Given the description of an element on the screen output the (x, y) to click on. 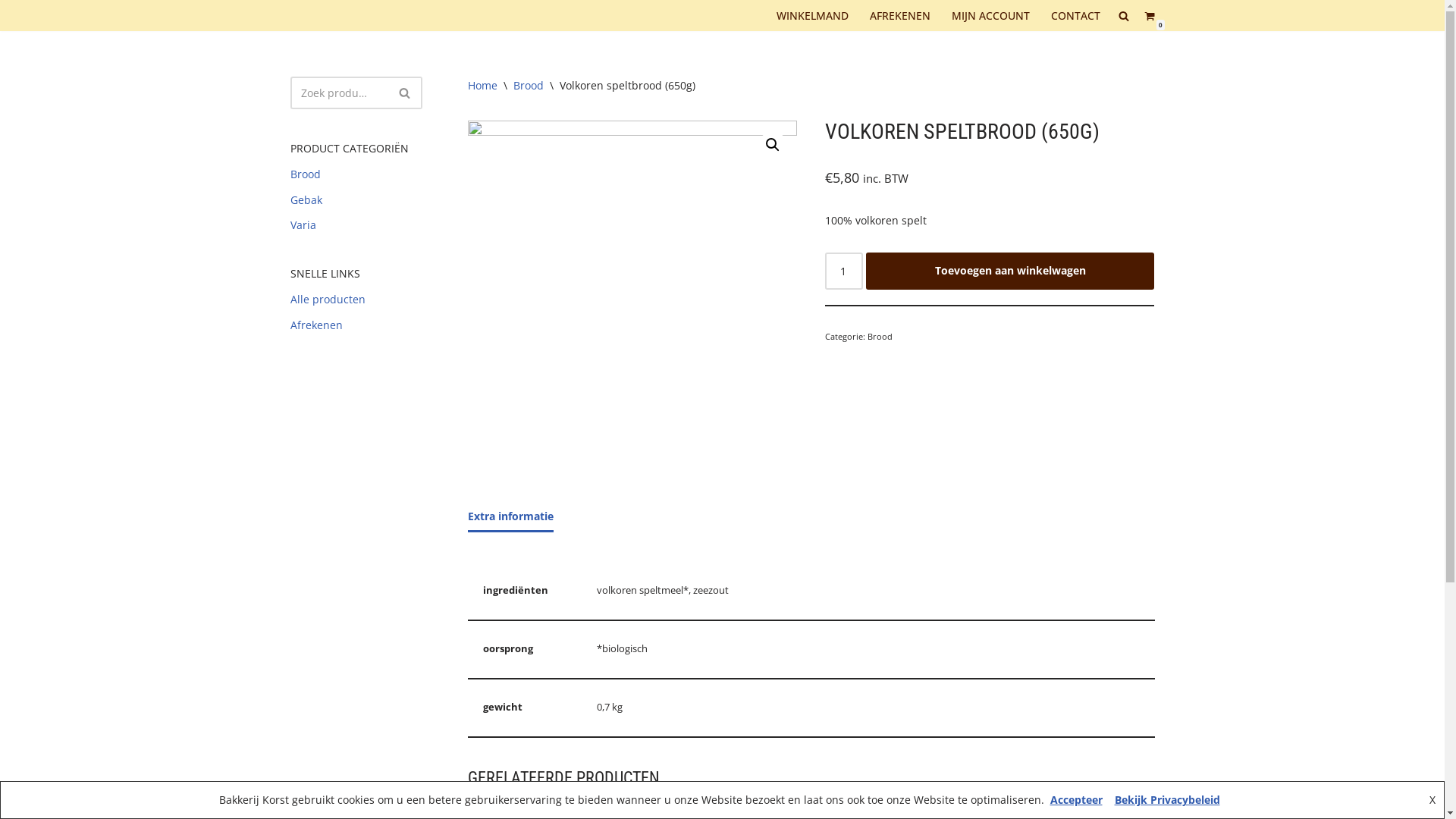
Brood Element type: text (879, 336)
Afrekenen Element type: text (315, 324)
Gebak Element type: text (305, 199)
Alle producten Element type: text (326, 298)
Bekijk Privacybeleid Element type: text (1167, 799)
Toevoegen aan winkelwagen Element type: text (1010, 270)
MIJN ACCOUNT Element type: text (989, 15)
WINKELMAND Element type: text (812, 15)
Varia Element type: text (302, 224)
Accepteer Element type: text (1075, 799)
Extra informatie Element type: text (509, 516)
Home Element type: text (481, 85)
0 Element type: text (1148, 15)
Brood Element type: text (527, 85)
AFREKENEN Element type: text (899, 15)
Brood Element type: text (304, 173)
CONTACT Element type: text (1075, 15)
Ga naar de inhoud Element type: text (11, 31)
emmerspelt Element type: hover (632, 285)
